Given the description of an element on the screen output the (x, y) to click on. 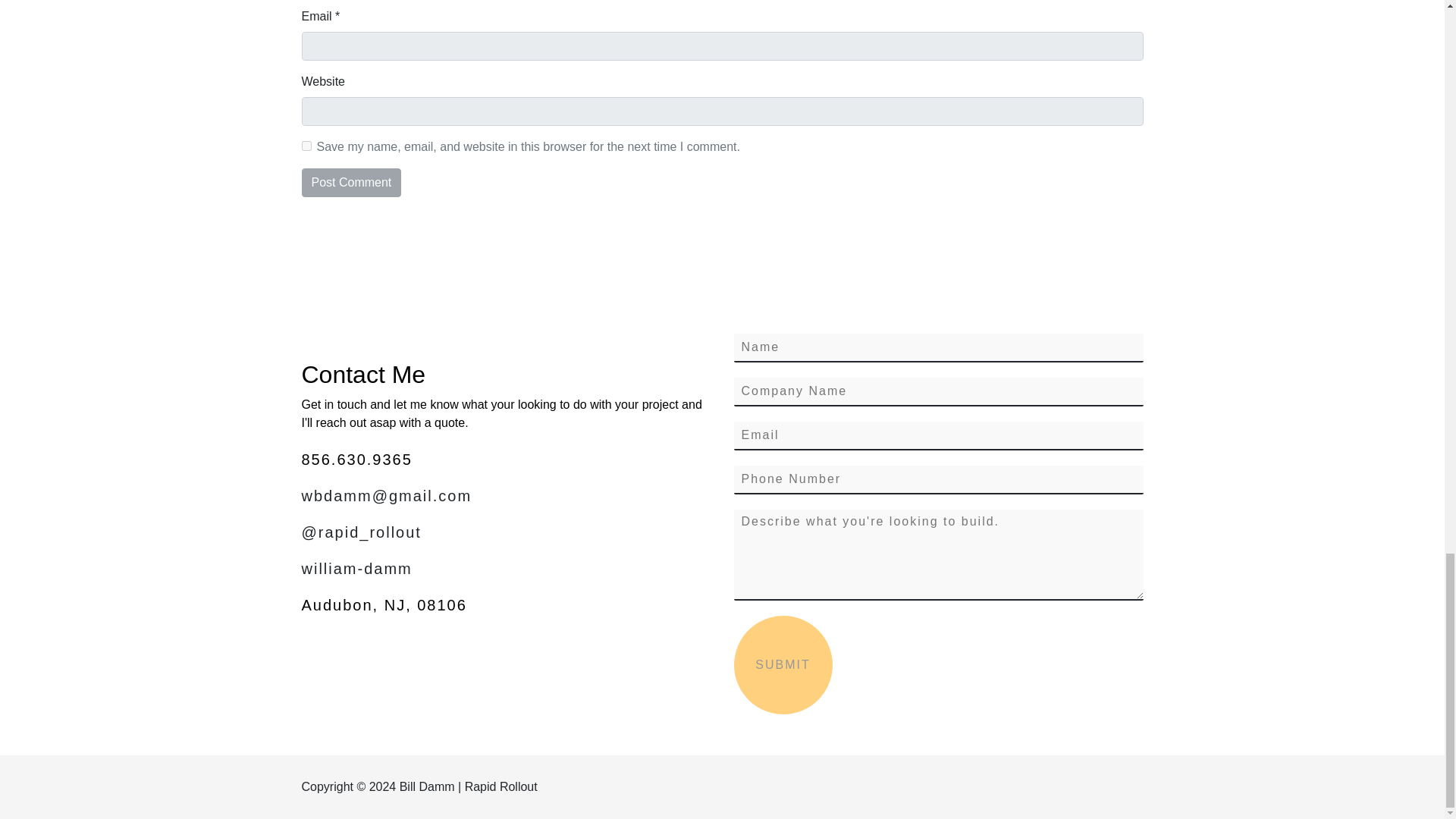
yes (306, 145)
Post Comment (351, 182)
SUBMIT (782, 664)
Post Comment (351, 182)
william-damm (506, 568)
Rapid Rollout (500, 786)
